Given the description of an element on the screen output the (x, y) to click on. 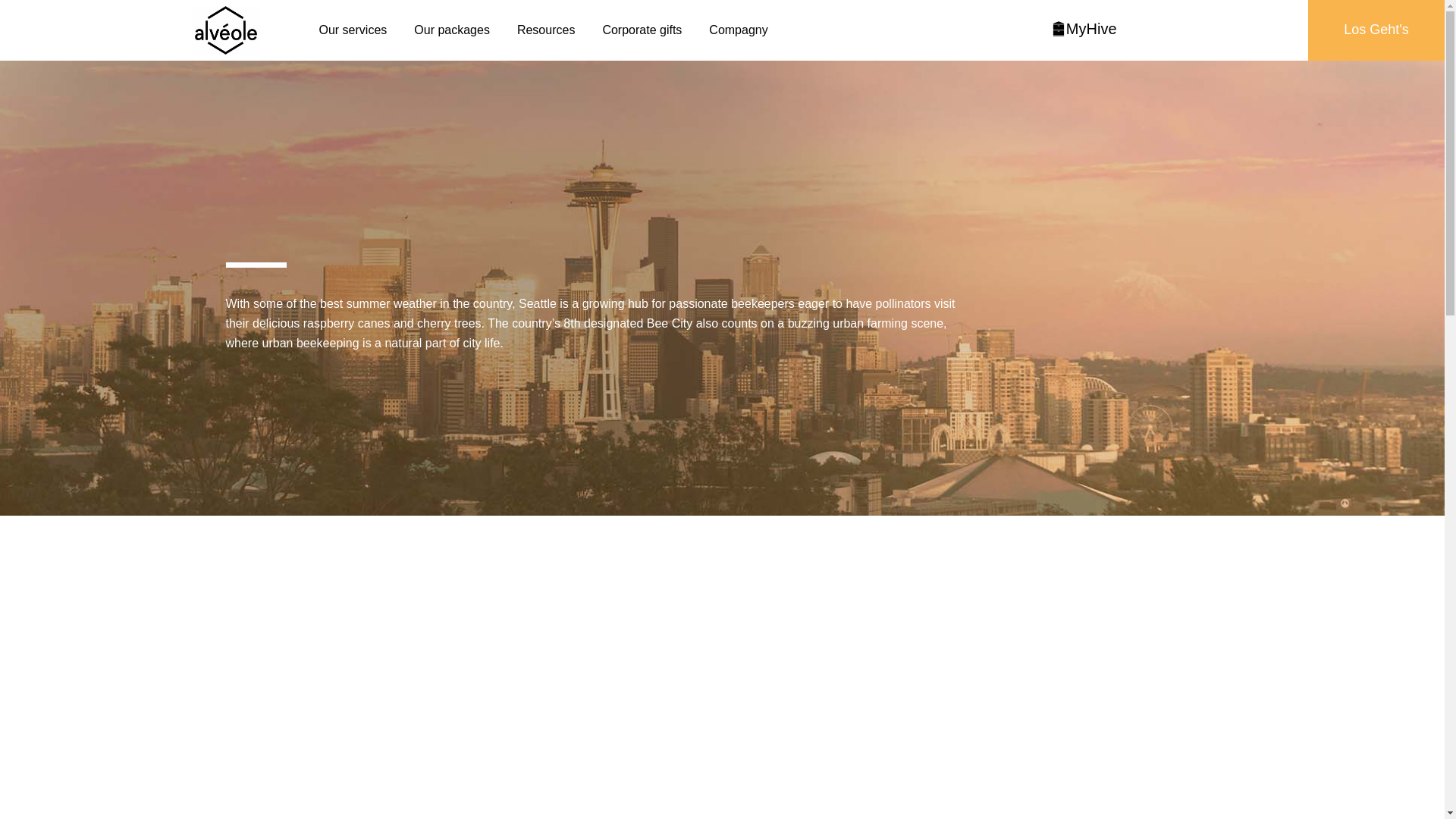
Our services (352, 30)
Corporate gifts (641, 30)
Los Geht's (1375, 29)
Compagny (738, 30)
MyHive (1083, 28)
Resources (545, 30)
Our packages (451, 30)
